Given the description of an element on the screen output the (x, y) to click on. 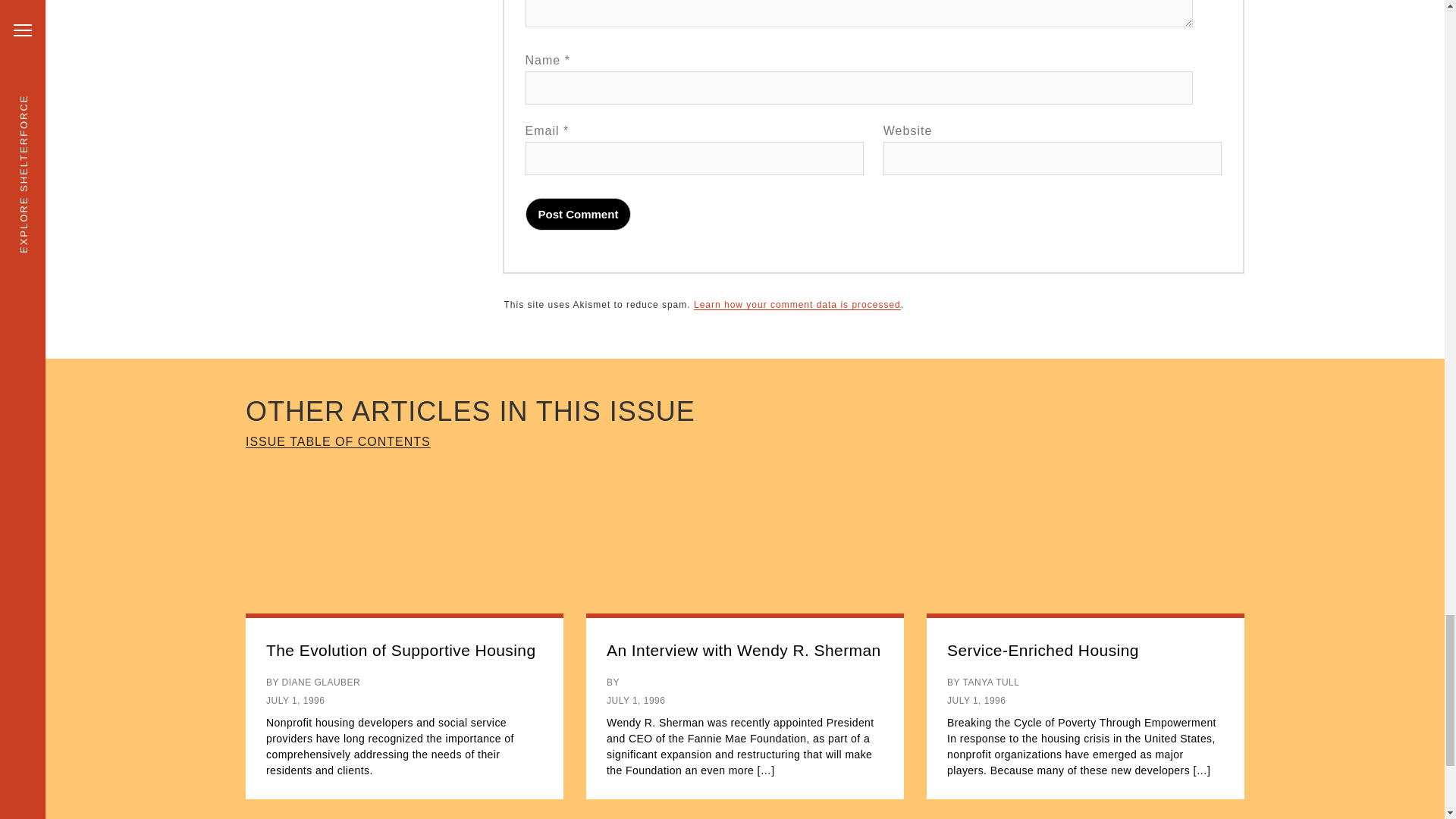
Post Comment (578, 214)
